Given the description of an element on the screen output the (x, y) to click on. 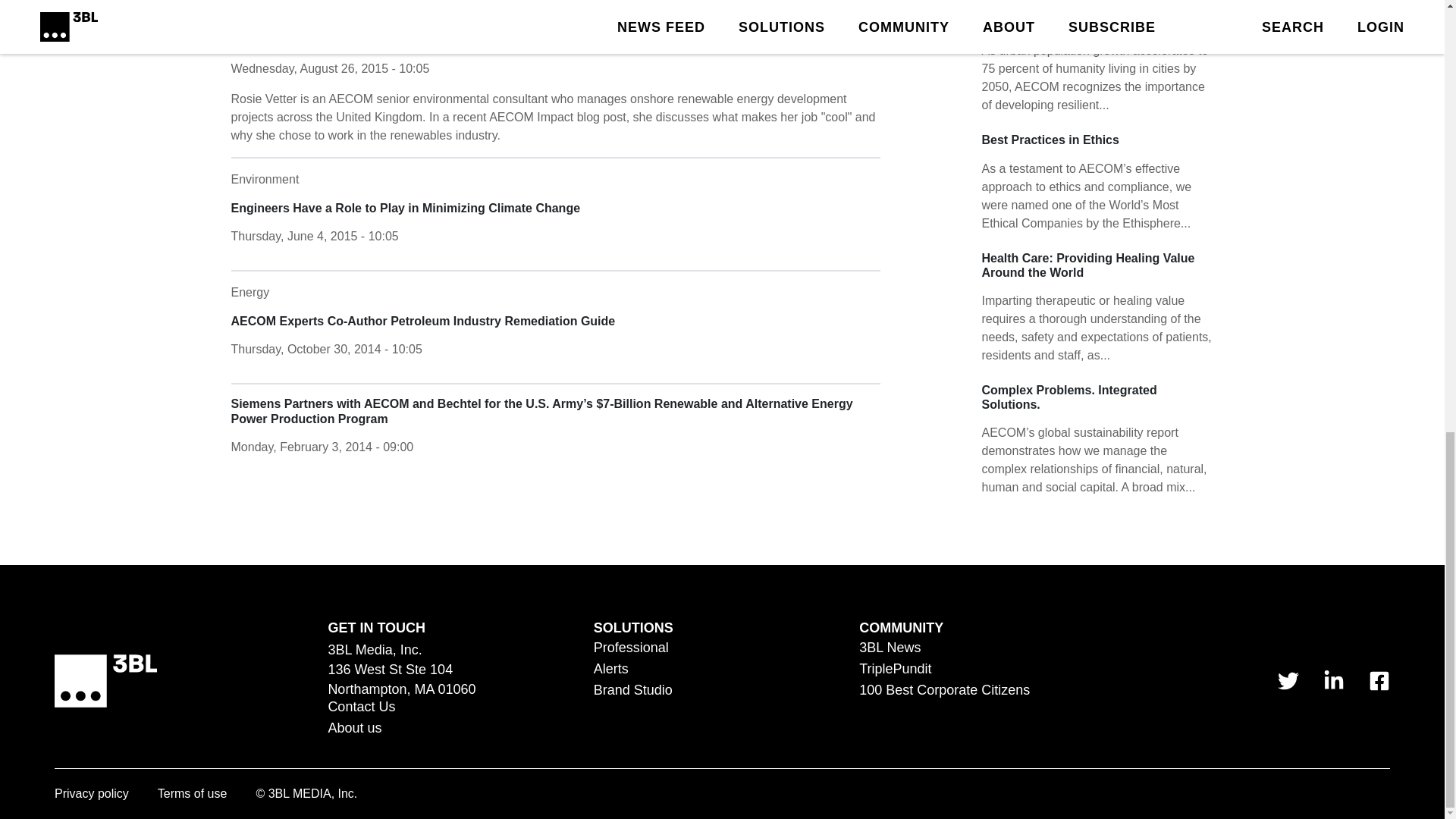
link to 3 B L Media's Linkedin (1333, 680)
link to 3 B L Media's Twitter (1288, 680)
link to 3 B L Media's Facebook (1379, 680)
